Given the description of an element on the screen output the (x, y) to click on. 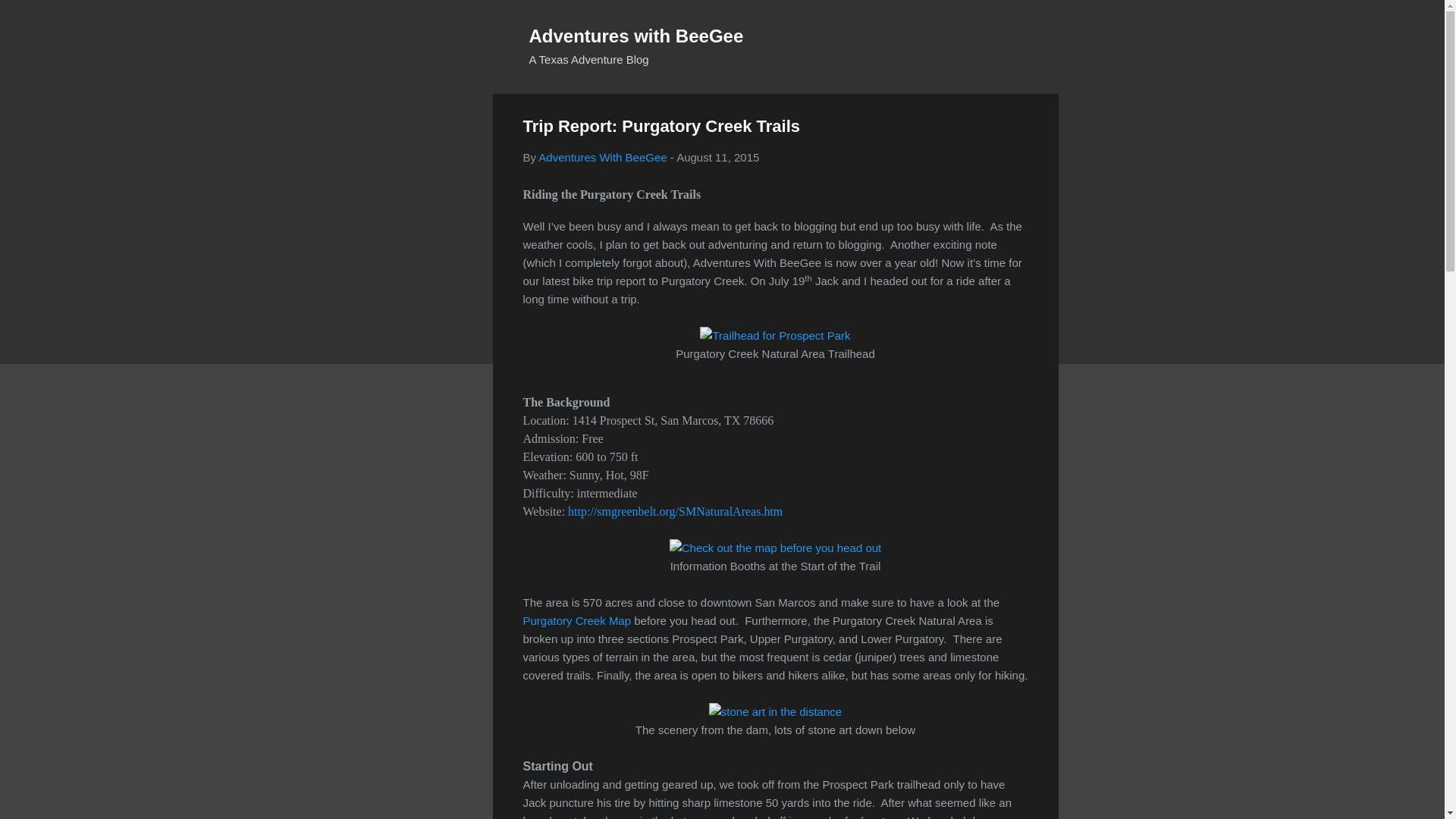
Looking Out From the Dam (775, 711)
permanent link (717, 156)
August 11, 2015 (717, 156)
author profile (602, 156)
Purgatory Creek Natural Area Trailhead (775, 335)
Adventures with BeeGee (636, 35)
Purgatory Creek Map (576, 620)
Information Booths at the Start of the Trail (775, 547)
Adventures With BeeGee (602, 156)
Search (29, 18)
